Given the description of an element on the screen output the (x, y) to click on. 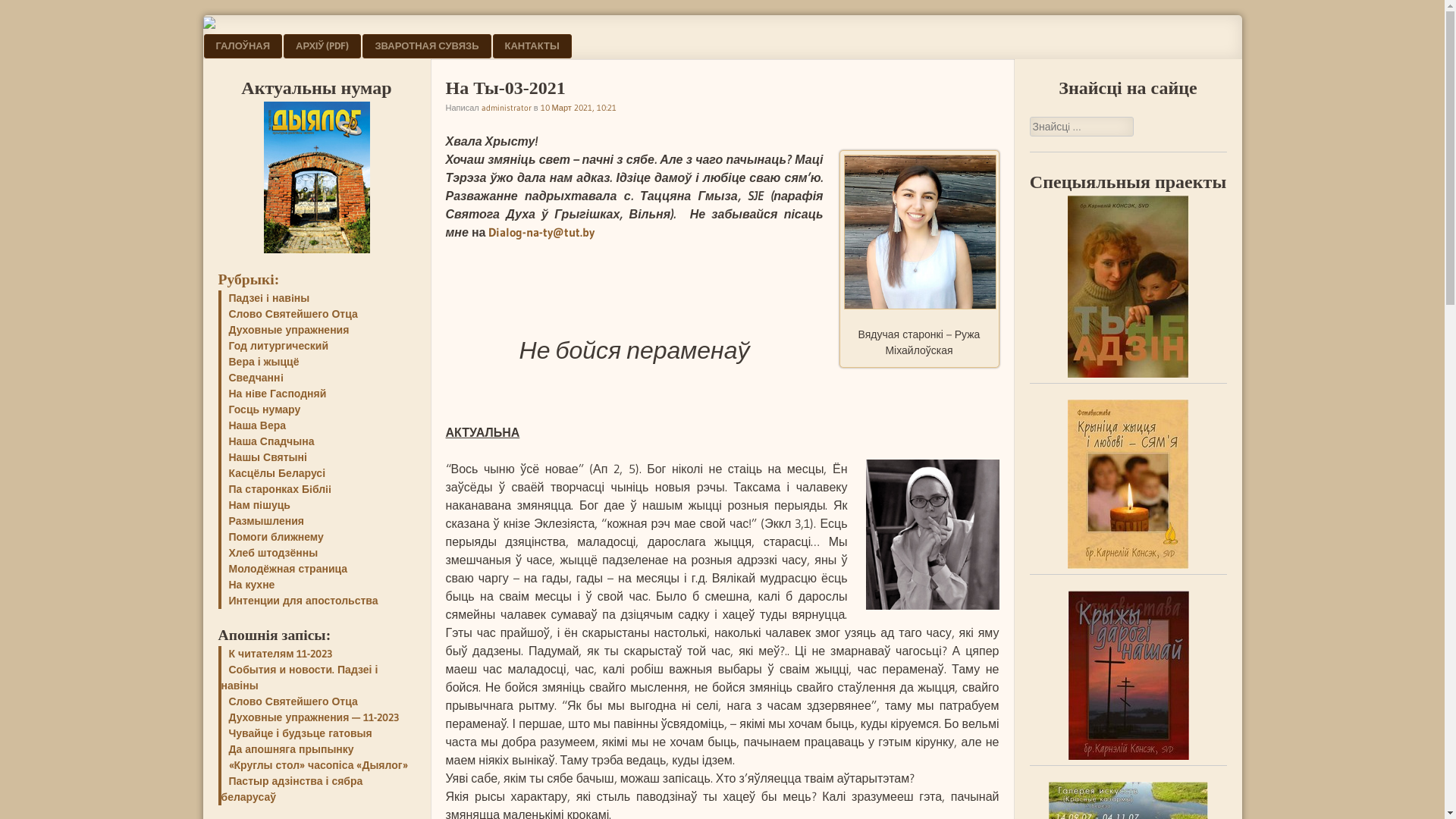
Dialog-na-ty@tut.by Element type: text (541, 231)
administrator Element type: text (506, 106)
SKIP TO CONTENT Element type: text (253, 45)
